Given the description of an element on the screen output the (x, y) to click on. 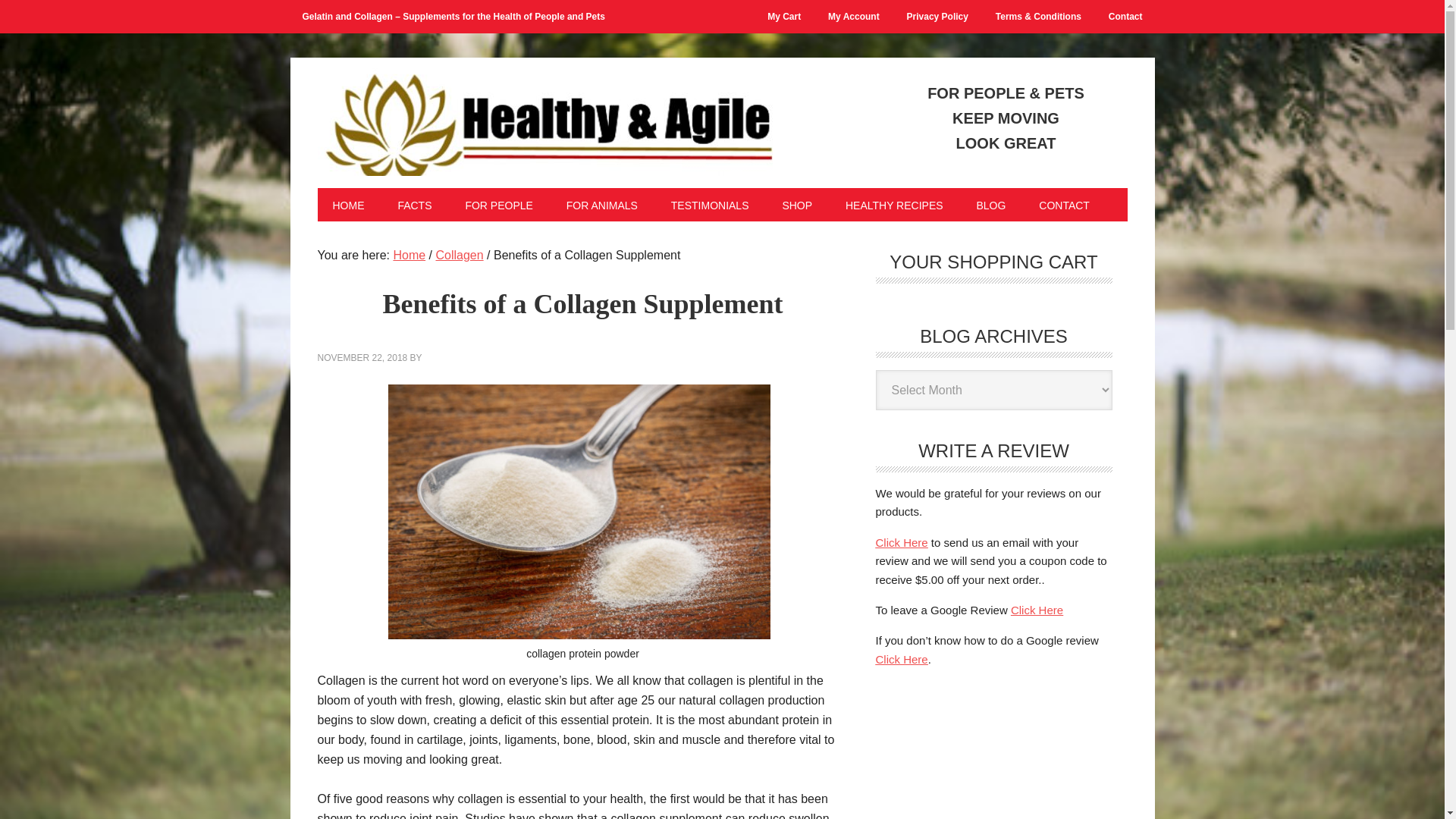
Contact Element type: text (1125, 16)
HEALTHY RECIPES Element type: text (894, 204)
FOR ANIMALS Element type: text (601, 204)
Click Here Element type: text (1036, 609)
SHOP Element type: text (796, 204)
Home Element type: text (408, 254)
FACTS Element type: text (414, 204)
HOME Element type: text (347, 204)
Terms & Conditions Element type: text (1038, 16)
BLOG Element type: text (990, 204)
Privacy Policy Element type: text (937, 16)
FOR PEOPLE Element type: text (498, 204)
My Cart Element type: text (783, 16)
CONTACT Element type: text (1063, 204)
My Account Element type: text (853, 16)
TESTIMONIALS Element type: text (709, 204)
HEALTHY AND AGILE Element type: text (543, 118)
Click Here Element type: text (901, 658)
Collagen Element type: text (459, 254)
Click Here Element type: text (901, 542)
